Given the description of an element on the screen output the (x, y) to click on. 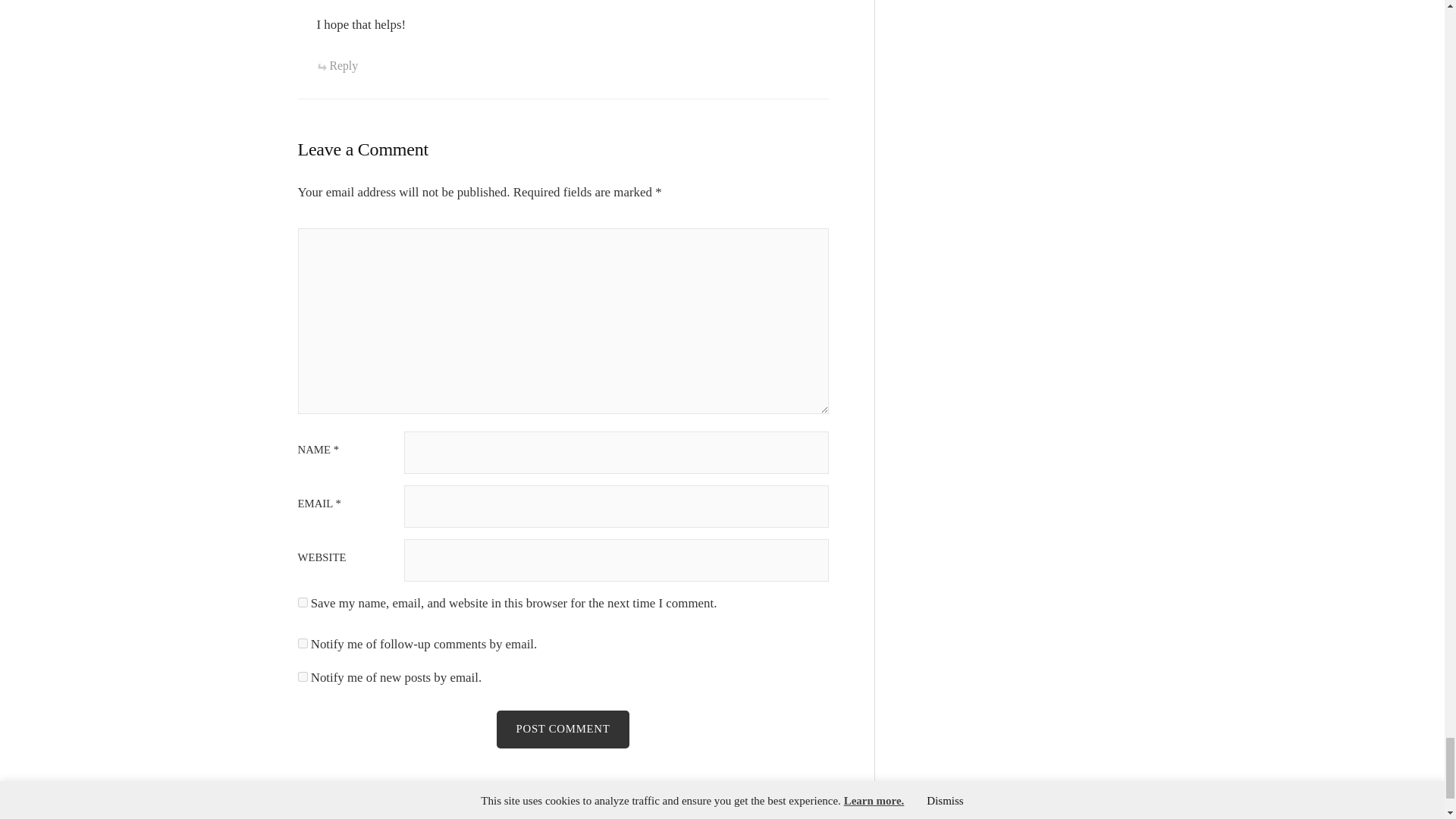
Post Comment (562, 729)
subscribe (302, 643)
subscribe (302, 676)
yes (302, 602)
